Given the description of an element on the screen output the (x, y) to click on. 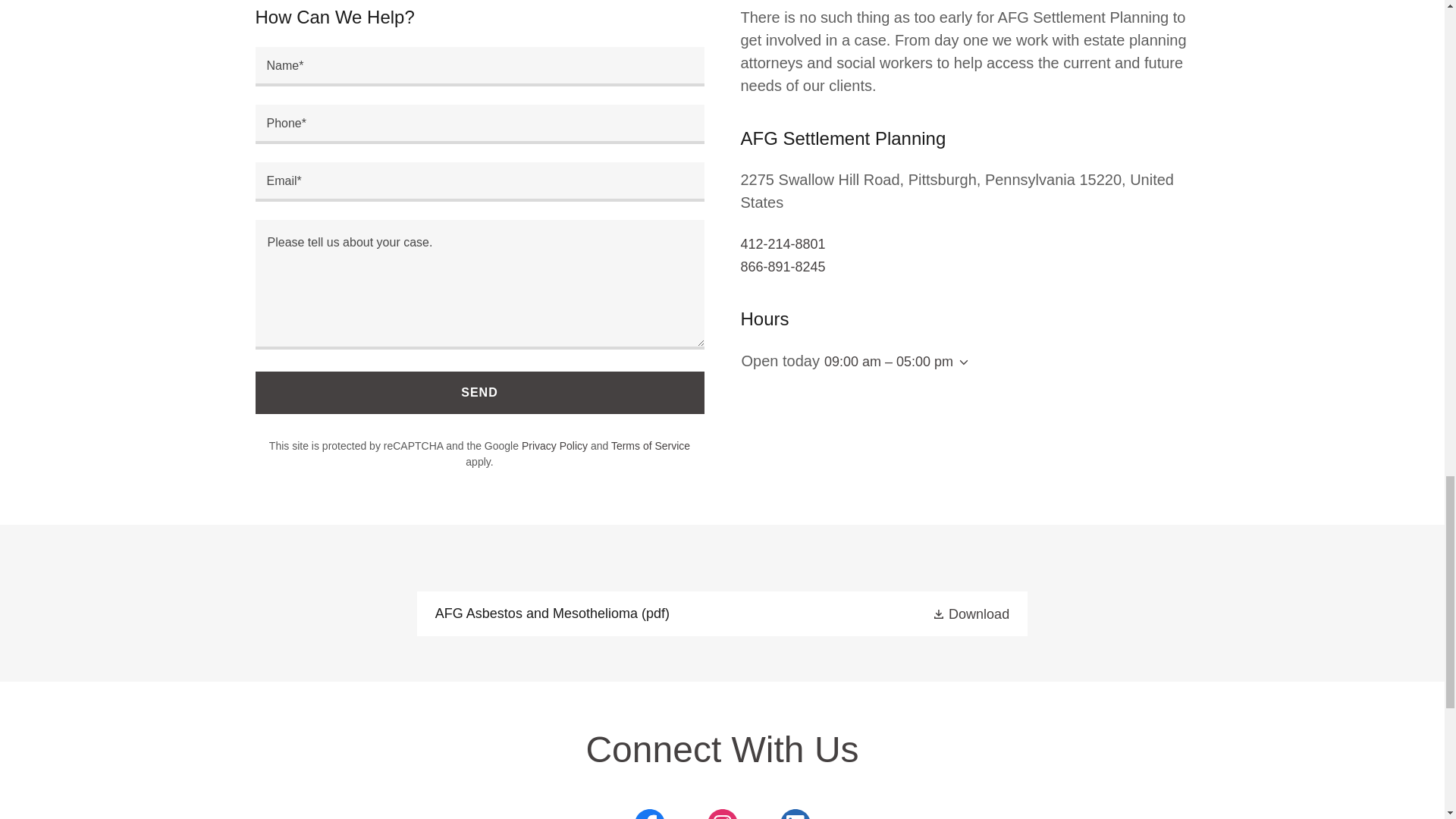
866-891-8245 (782, 266)
Terms of Service (650, 445)
Privacy Policy (554, 445)
SEND (478, 392)
412-214-8801 (782, 243)
